Given the description of an element on the screen output the (x, y) to click on. 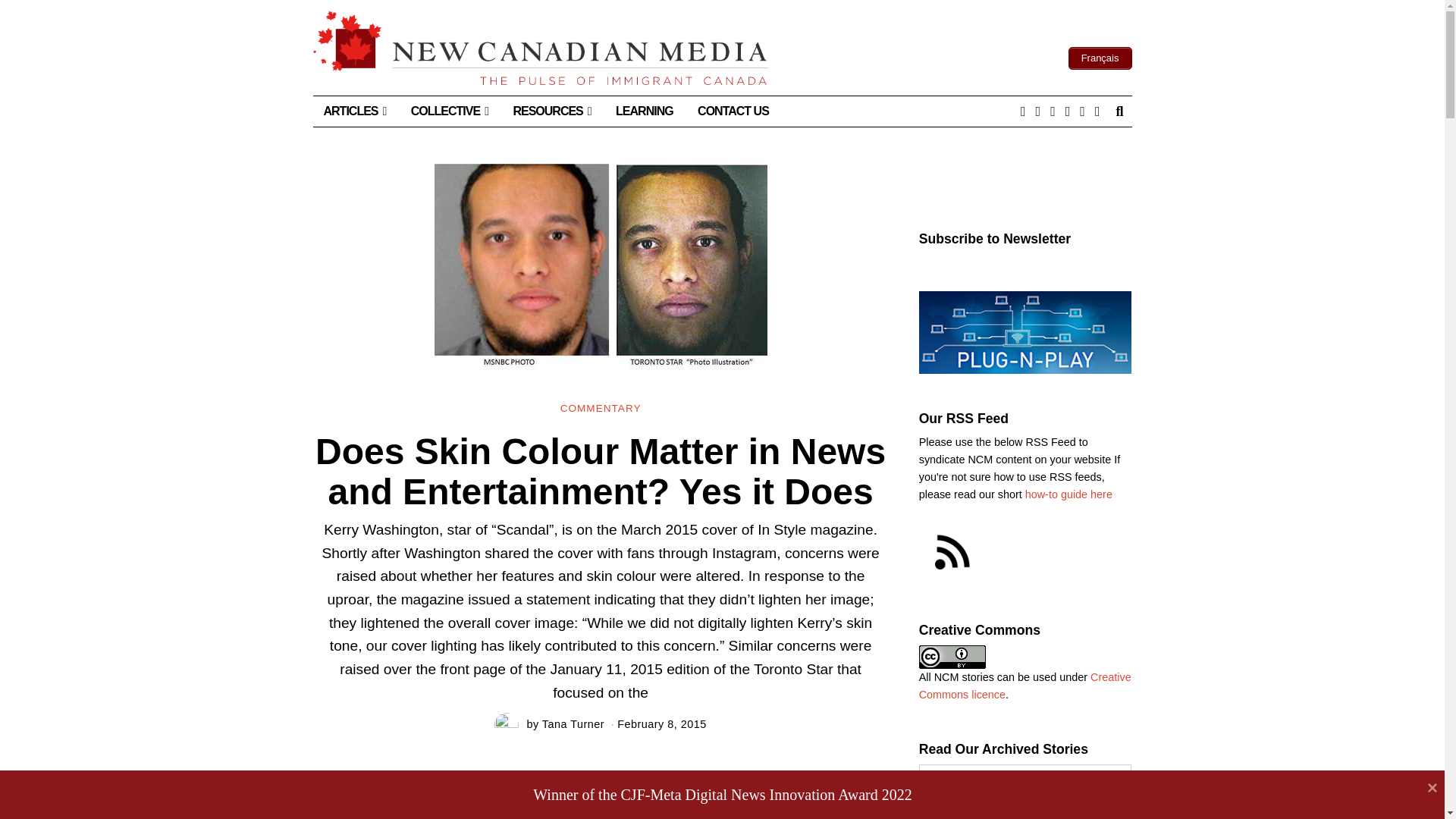
RESOURCES (551, 111)
ARTICLES (354, 111)
COMMENTARY (601, 408)
Tana Turner (572, 724)
statement (811, 814)
CONTACT US (732, 111)
COLLECTIVE (449, 111)
LEARNING (644, 111)
